Given the description of an element on the screen output the (x, y) to click on. 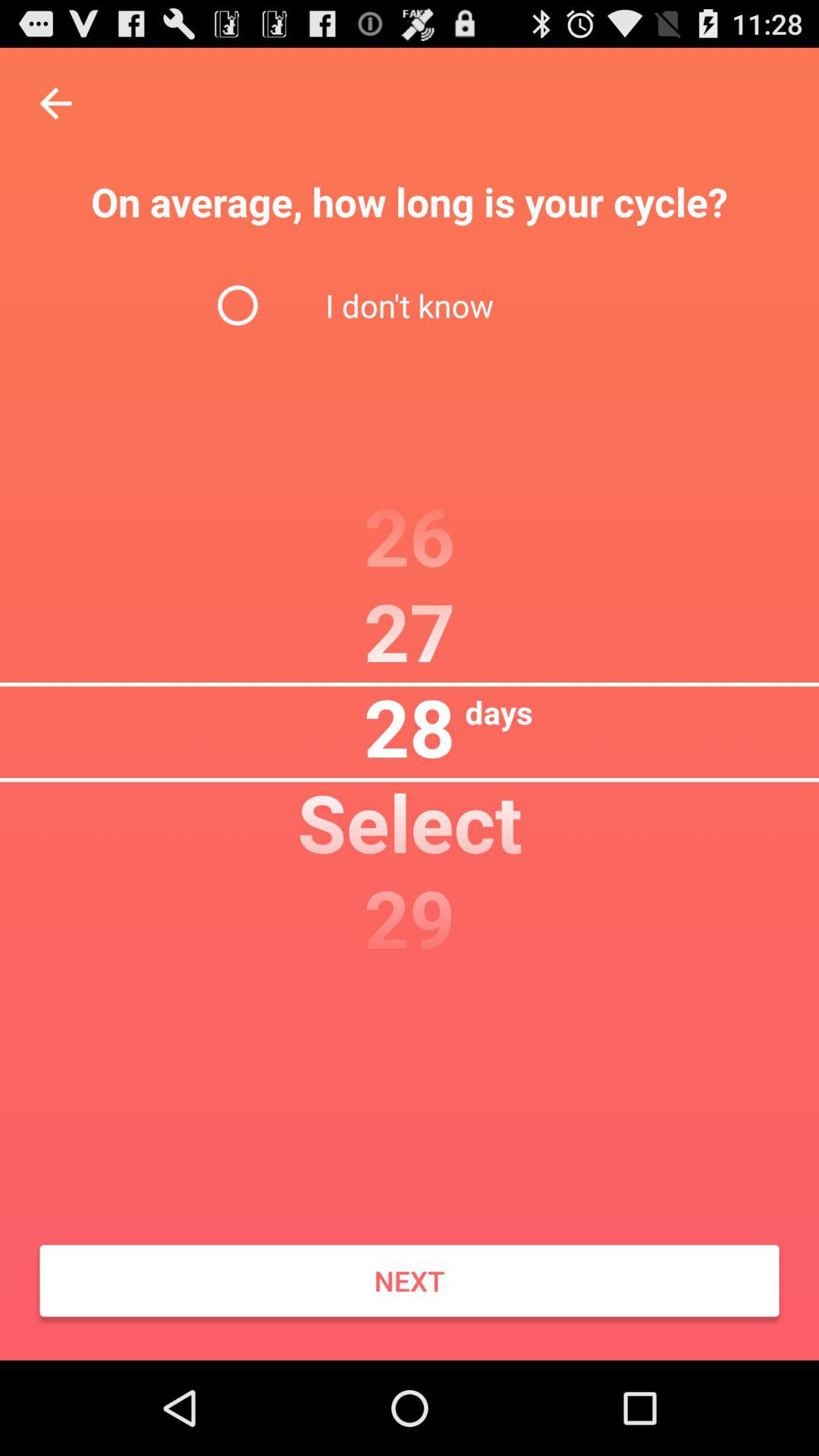
select i don t (409, 304)
